Given the description of an element on the screen output the (x, y) to click on. 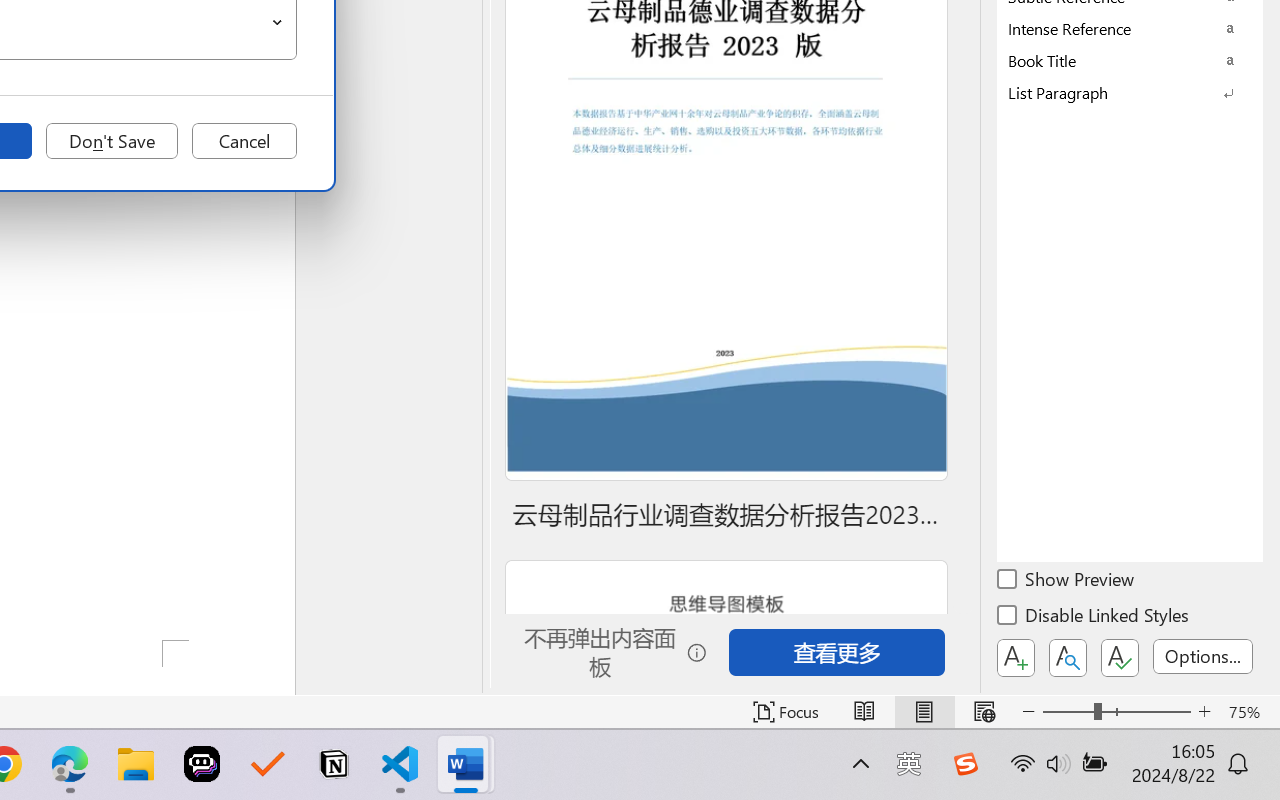
Notion (333, 764)
Zoom Out (1067, 712)
Show Preview (1067, 582)
Print Layout (924, 712)
Options... (1203, 656)
Intense Reference (1130, 28)
Class: NetUIButton (1119, 657)
